Given the description of an element on the screen output the (x, y) to click on. 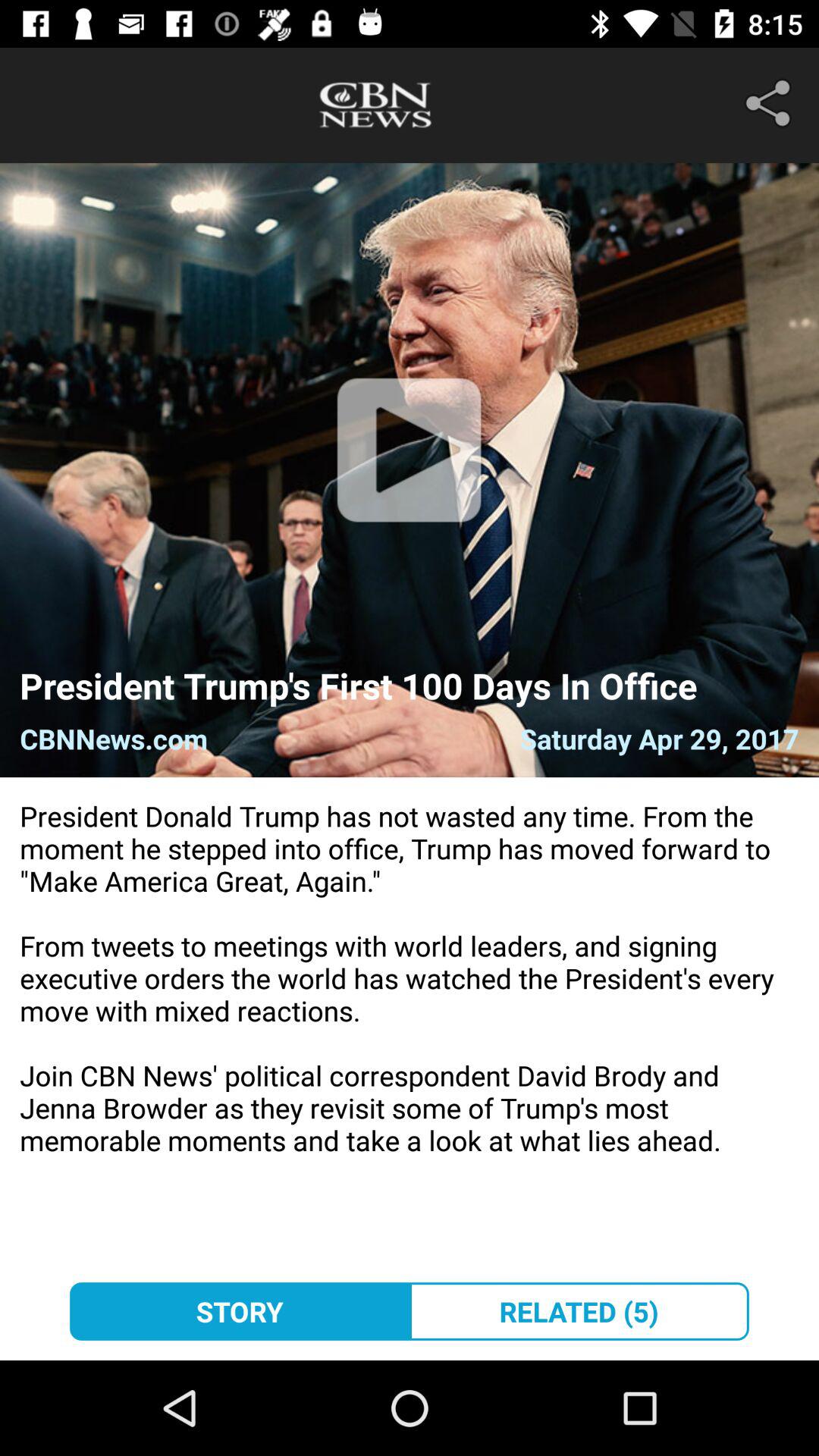
play video (409, 469)
